Given the description of an element on the screen output the (x, y) to click on. 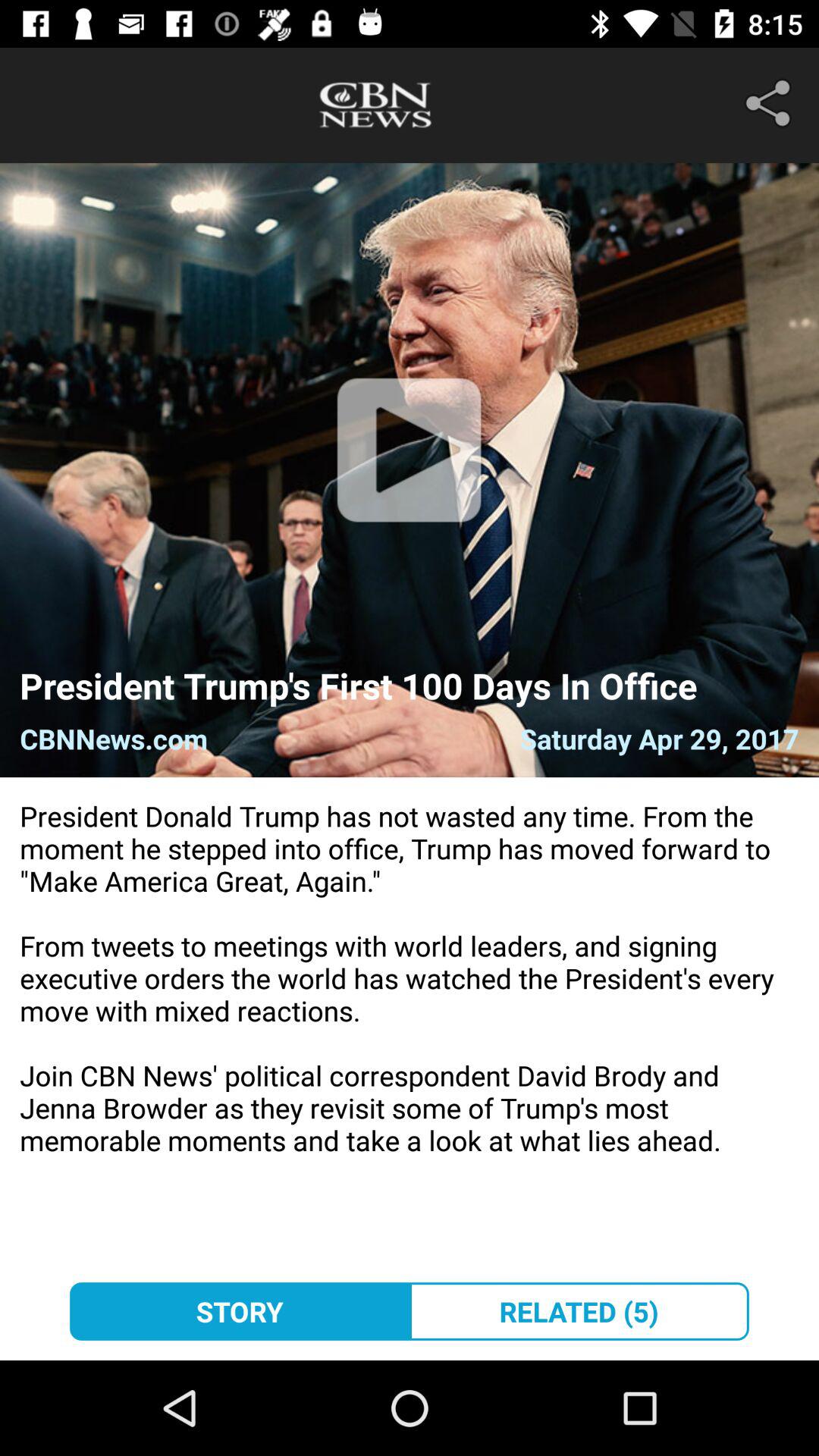
play video (409, 469)
